Given the description of an element on the screen output the (x, y) to click on. 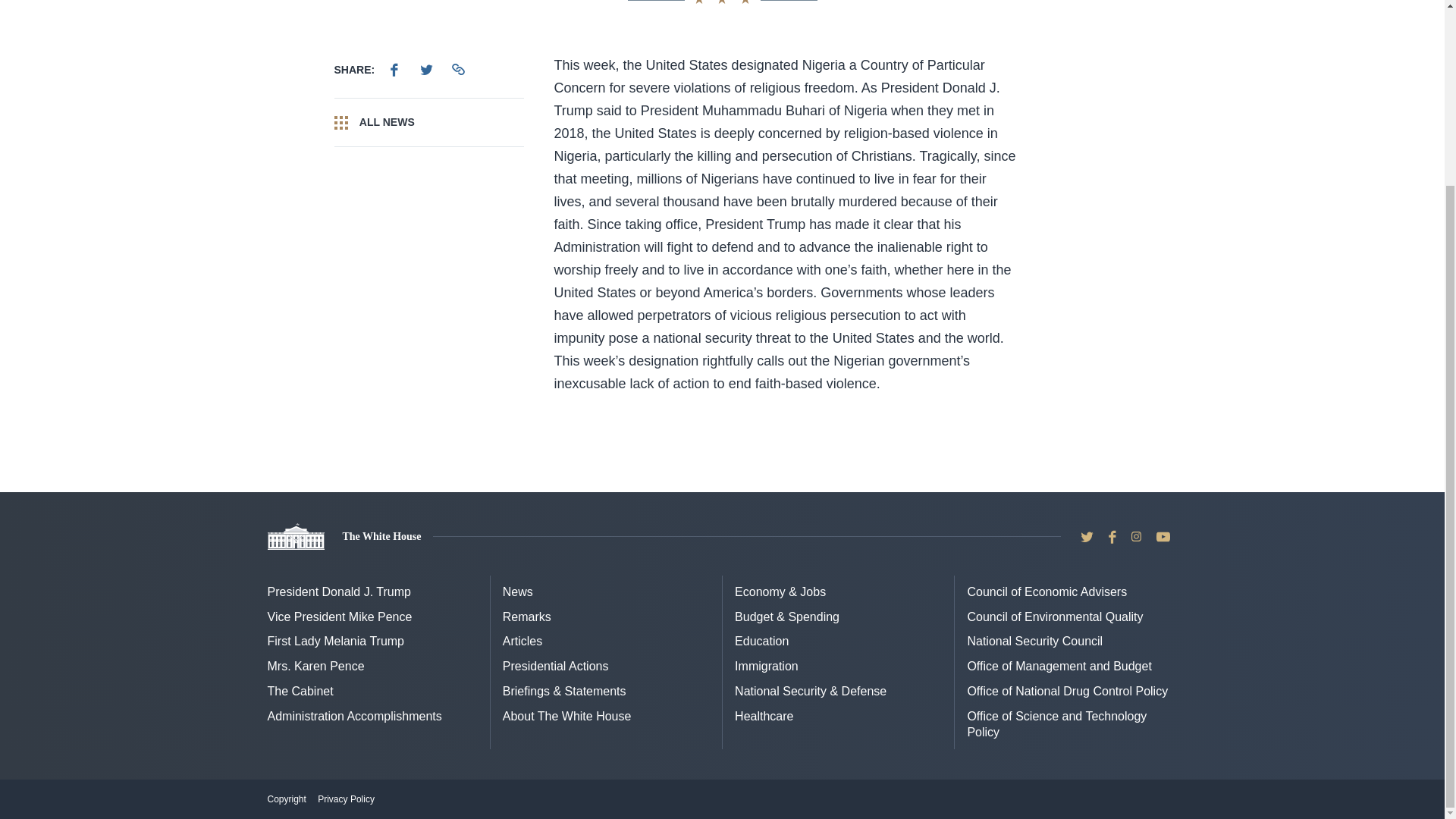
About The White House (566, 716)
Remarks (526, 616)
President Donald J. Trump (338, 591)
Administration Accomplishments (353, 716)
News (517, 591)
ALL NEWS (427, 122)
Healthcare (764, 716)
Articles (521, 640)
First Lady Melania Trump (335, 640)
Mrs. Karen Pence (315, 666)
